Given the description of an element on the screen output the (x, y) to click on. 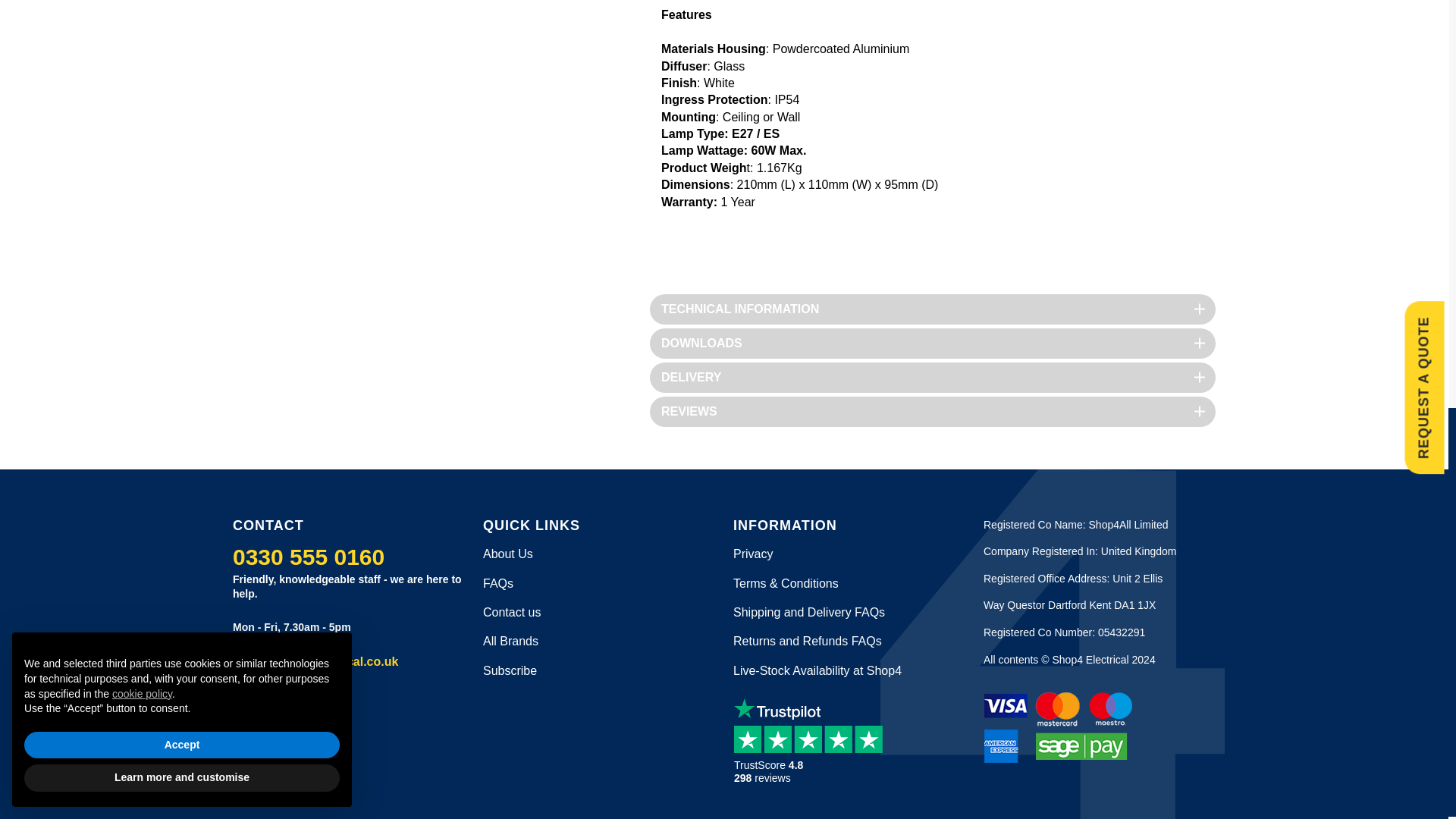
Use our form to contact us (511, 612)
Legal notice (753, 553)
Our terms and conditions of use (785, 583)
Customer reviews powered by Trustpilot (812, 754)
Learn more about us (507, 553)
